Given the description of an element on the screen output the (x, y) to click on. 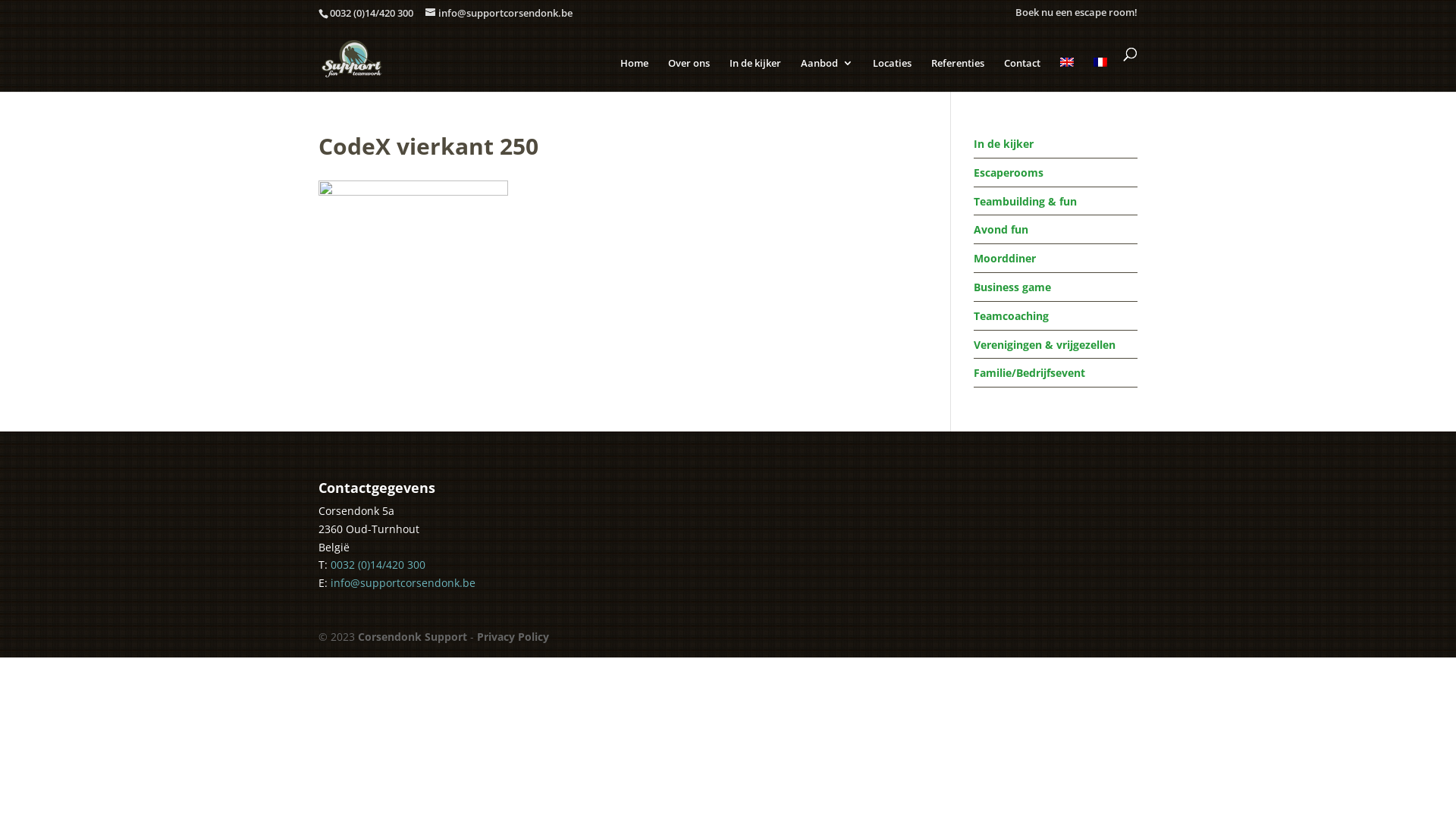
Avond fun Element type: text (1000, 229)
info@supportcorsendonk.be Element type: text (402, 582)
In de kijker Element type: text (1003, 143)
English Element type: hover (1066, 61)
Locaties Element type: text (891, 73)
Contact Element type: text (1022, 73)
Corsendonk Support Element type: text (412, 636)
Teamcoaching Element type: text (1010, 315)
Home Element type: text (634, 73)
Verenigingen & vrijgezellen Element type: text (1044, 344)
info@supportcorsendonk.be Element type: text (498, 12)
Privacy Policy Element type: text (512, 636)
Escaperooms Element type: text (1008, 172)
Referenties Element type: text (957, 73)
Over ons Element type: text (688, 73)
Familie/Bedrijfsevent Element type: text (1029, 372)
Business game Element type: text (1012, 286)
Aanbod Element type: text (826, 73)
In de kijker Element type: text (755, 73)
0032 (0)14/420 300 Element type: text (377, 564)
Boek nu een escape room! Element type: text (1076, 12)
Teambuilding & fun Element type: text (1024, 201)
Moorddiner Element type: text (1004, 258)
0032 (0)14/420 300 Element type: text (371, 12)
